Given the description of an element on the screen output the (x, y) to click on. 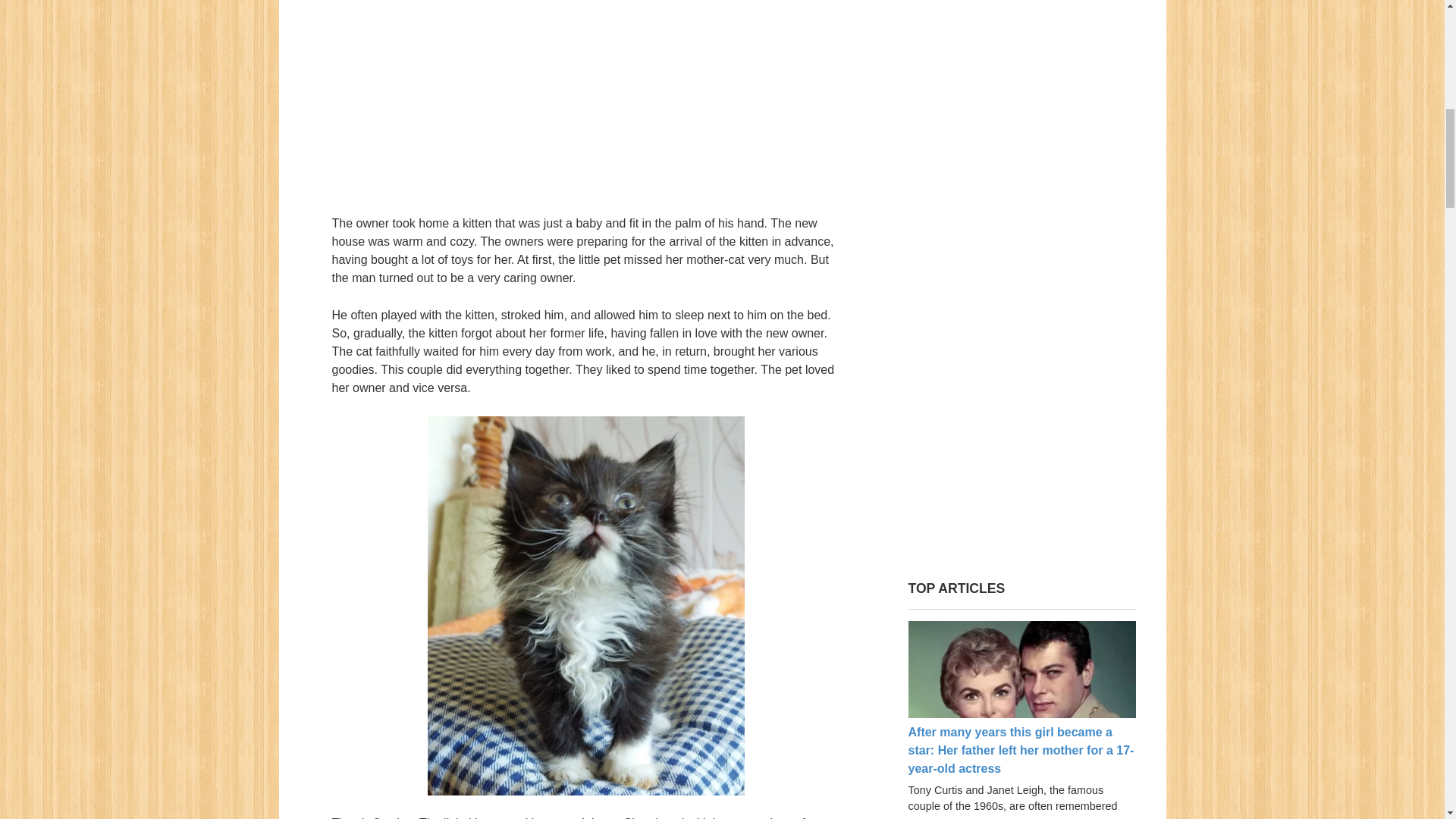
Advertisement (1021, 307)
Advertisement (585, 97)
